Given the description of an element on the screen output the (x, y) to click on. 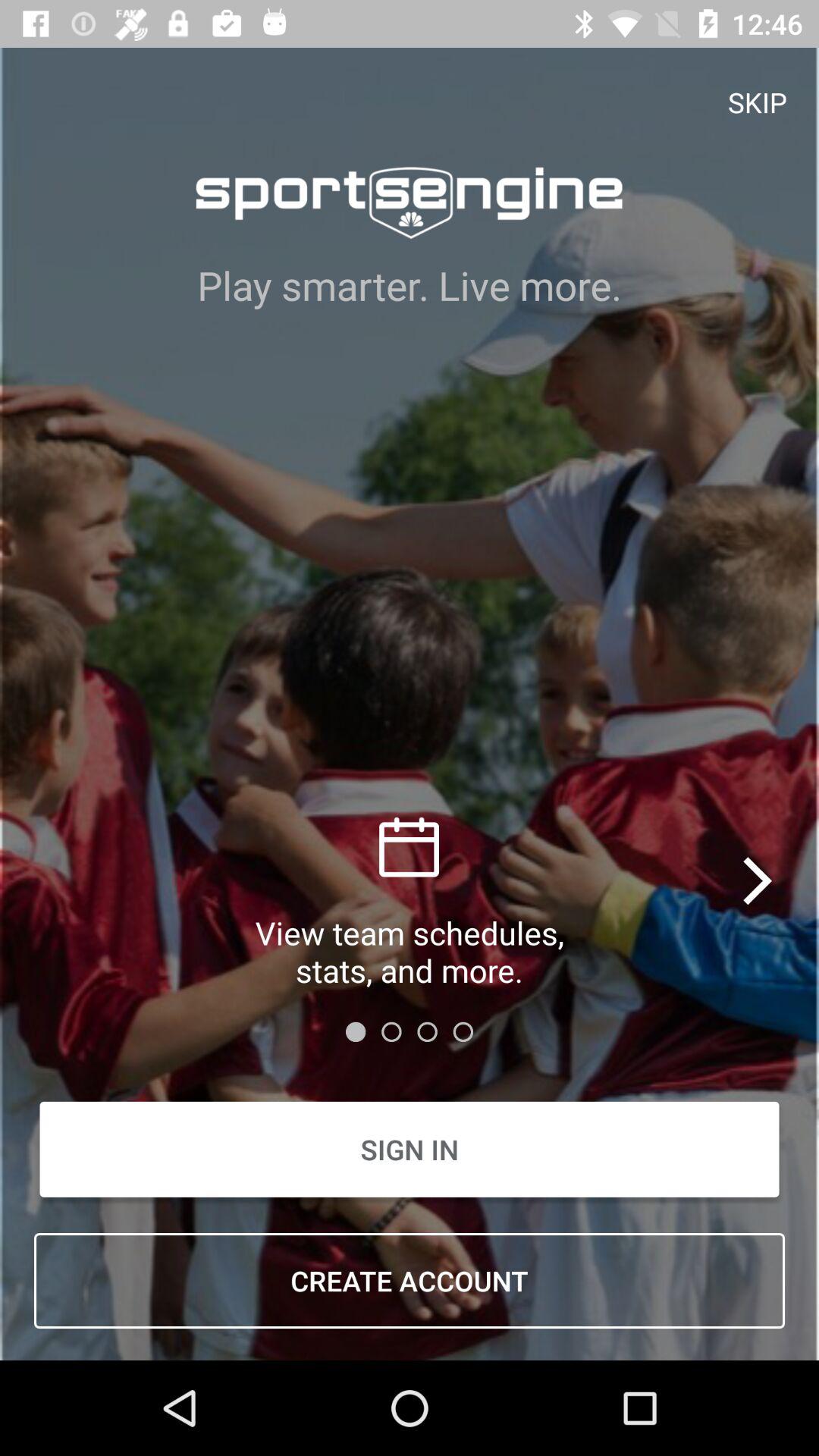
turn on item next to view team schedules icon (759, 880)
